Given the description of an element on the screen output the (x, y) to click on. 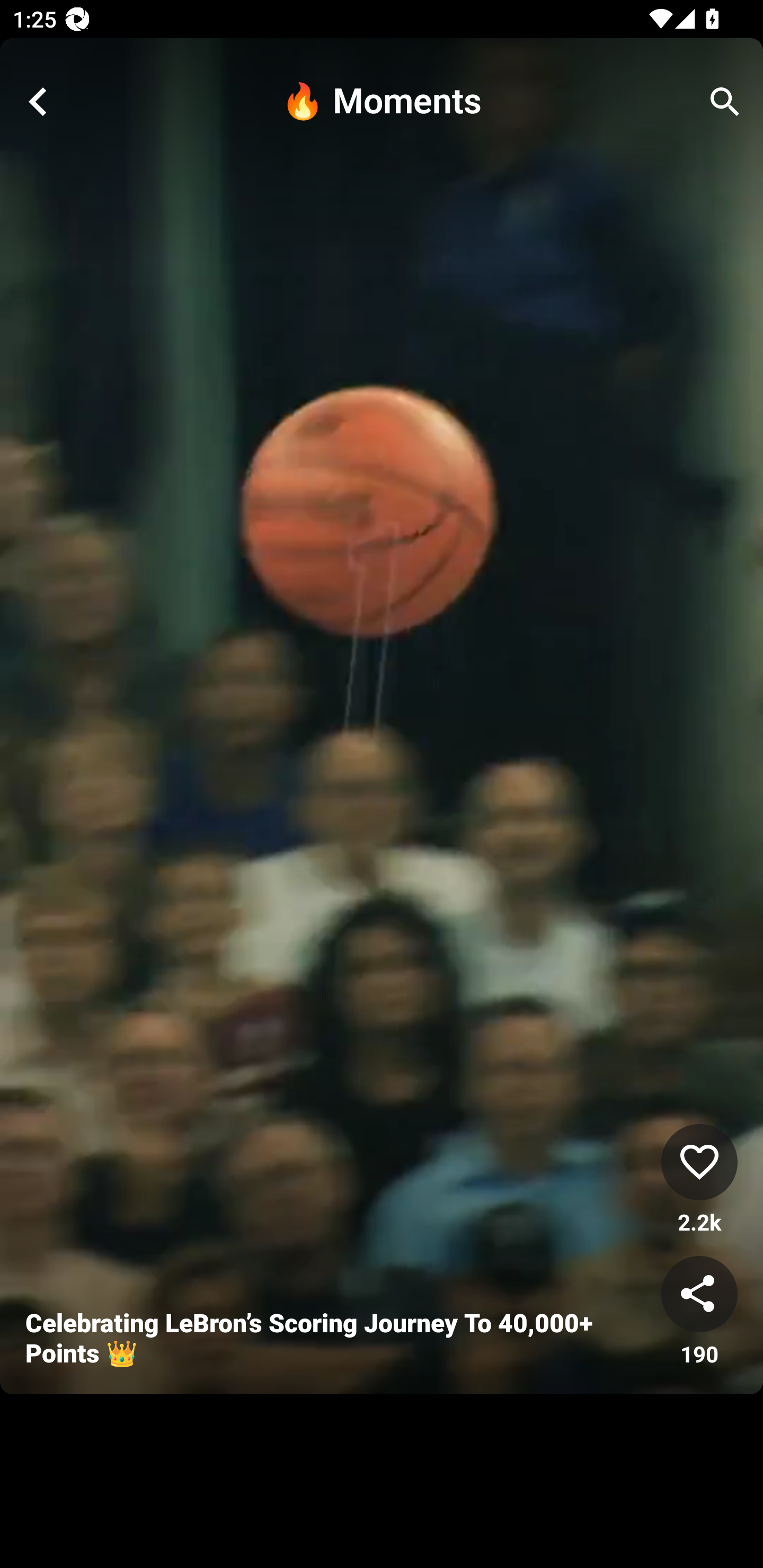
close (38, 101)
search (724, 101)
like 2.2k 2187 Likes (699, 1180)
share 190 190 Shares (699, 1311)
